Given the description of an element on the screen output the (x, y) to click on. 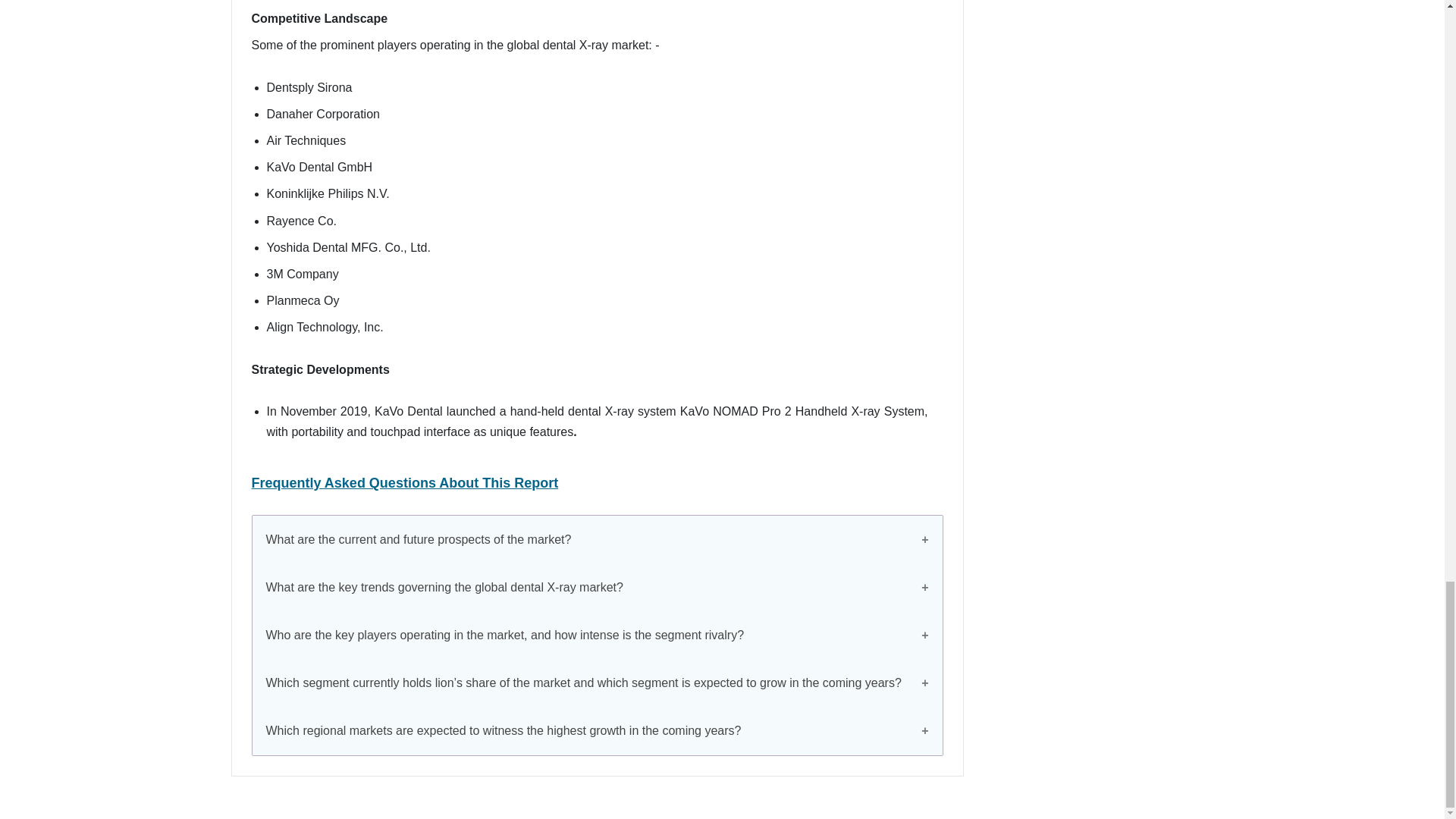
What are the current and future prospects of the market? (596, 539)
